Given the description of an element on the screen output the (x, y) to click on. 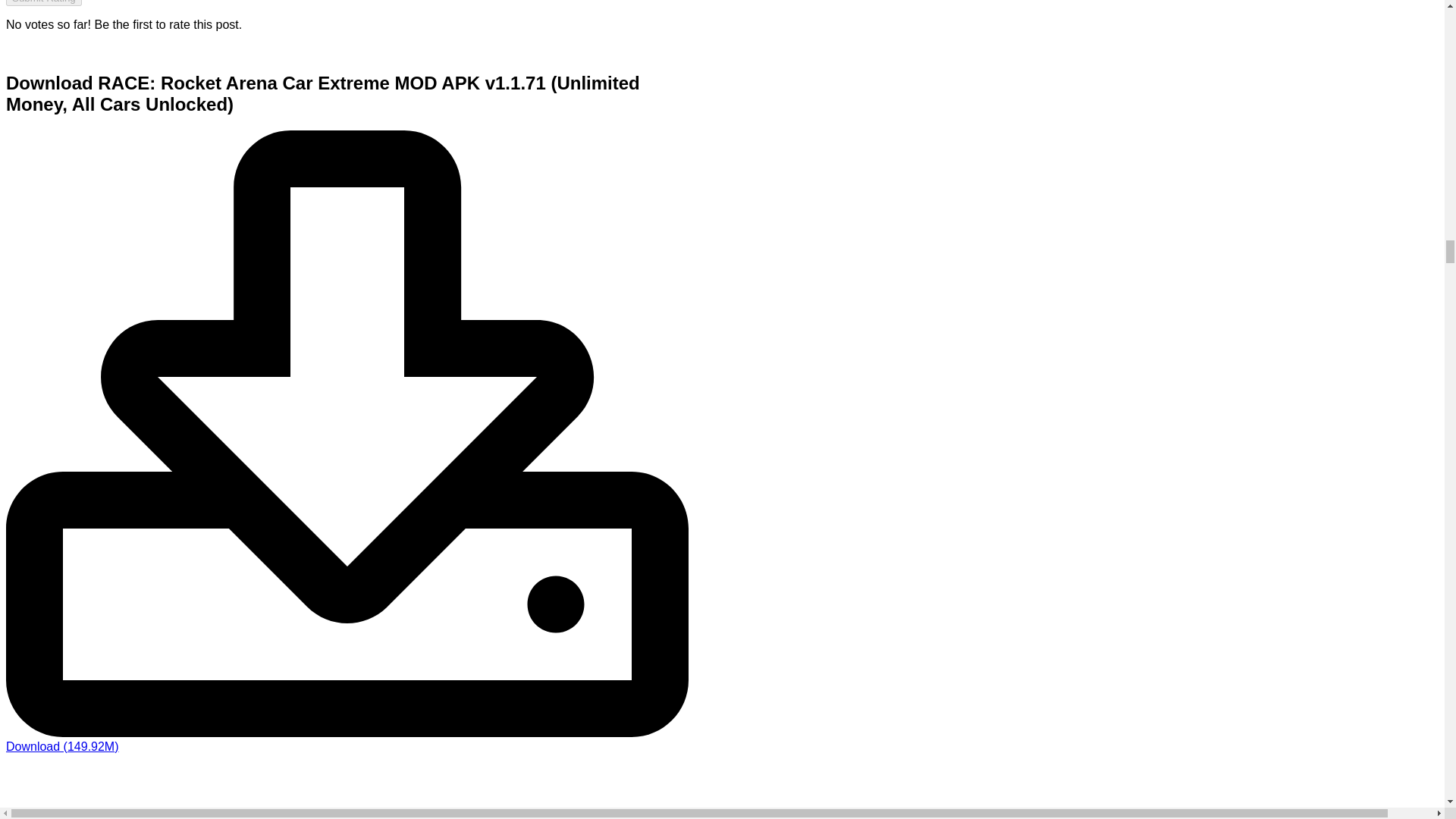
Submit Rating (43, 2)
